Given the description of an element on the screen output the (x, y) to click on. 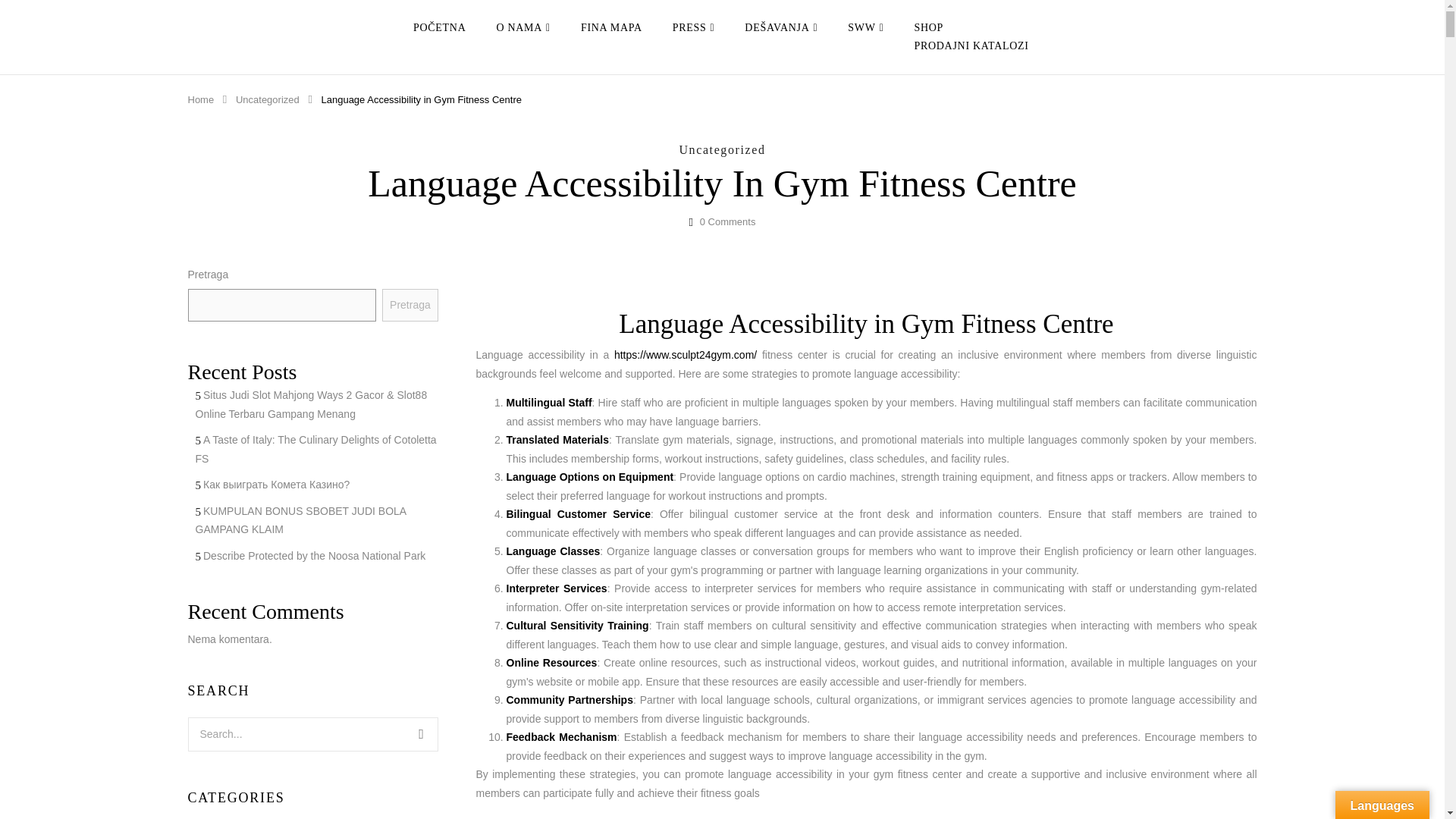
Search (420, 734)
0 Comments (727, 221)
KUMPULAN BONUS SBOBET JUDI BOLA GAMPANG KLAIM (300, 520)
FINA MAPA (611, 27)
SWW (865, 27)
Home (200, 99)
O NAMA (523, 27)
Describe Protected by the Noosa National Park (314, 555)
Uncategorized (267, 99)
PRODAJNI KATALOZI (970, 45)
